Given the description of an element on the screen output the (x, y) to click on. 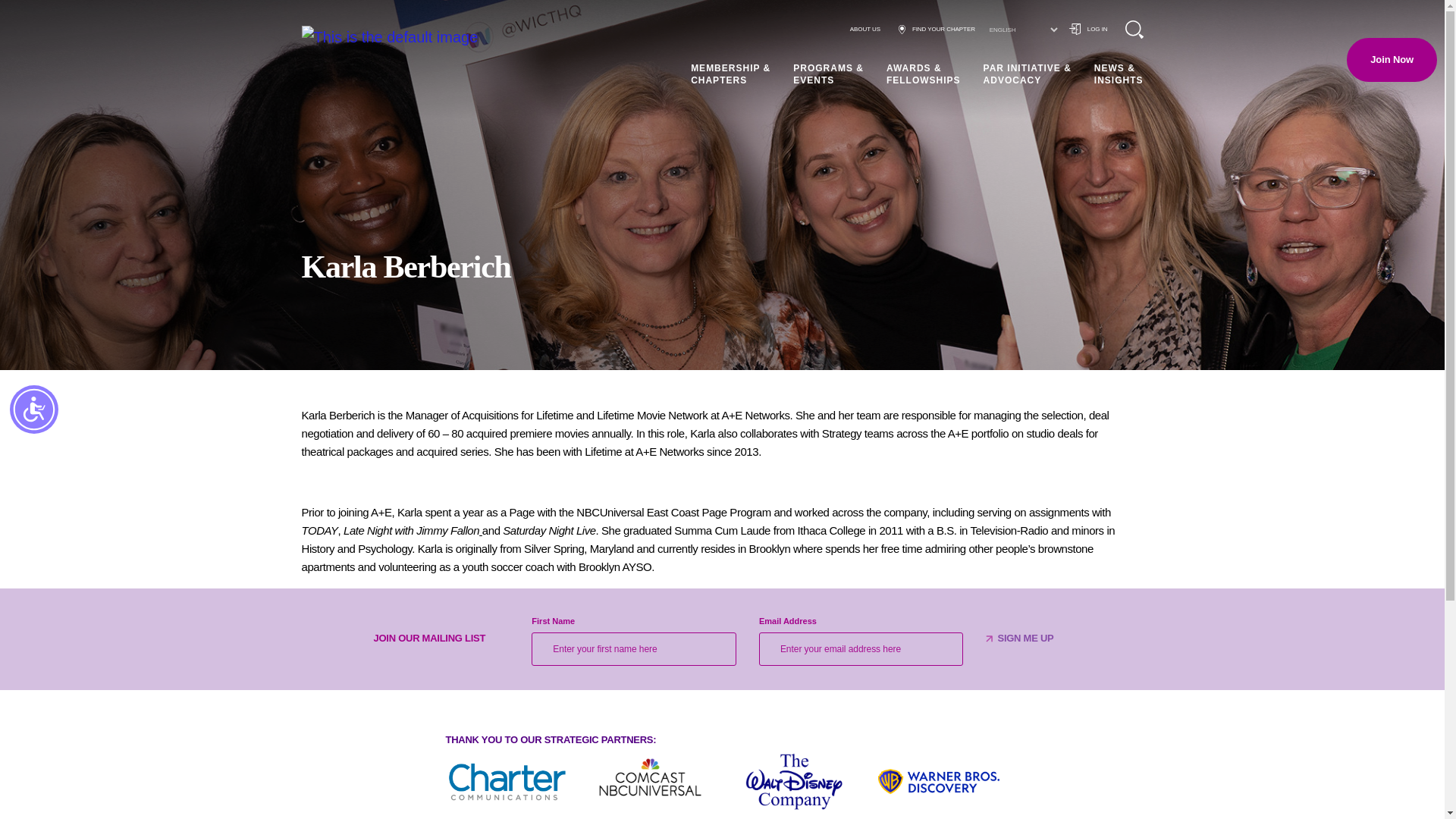
LOG IN (1088, 29)
Accessibility Menu (34, 409)
Join Now (1391, 59)
About Us (865, 29)
ABOUT US (865, 29)
Find Your Chapter (936, 29)
Sign Me up (1024, 638)
FIND YOUR CHAPTER (936, 29)
Skip to main content (24, 16)
